Given the description of an element on the screen output the (x, y) to click on. 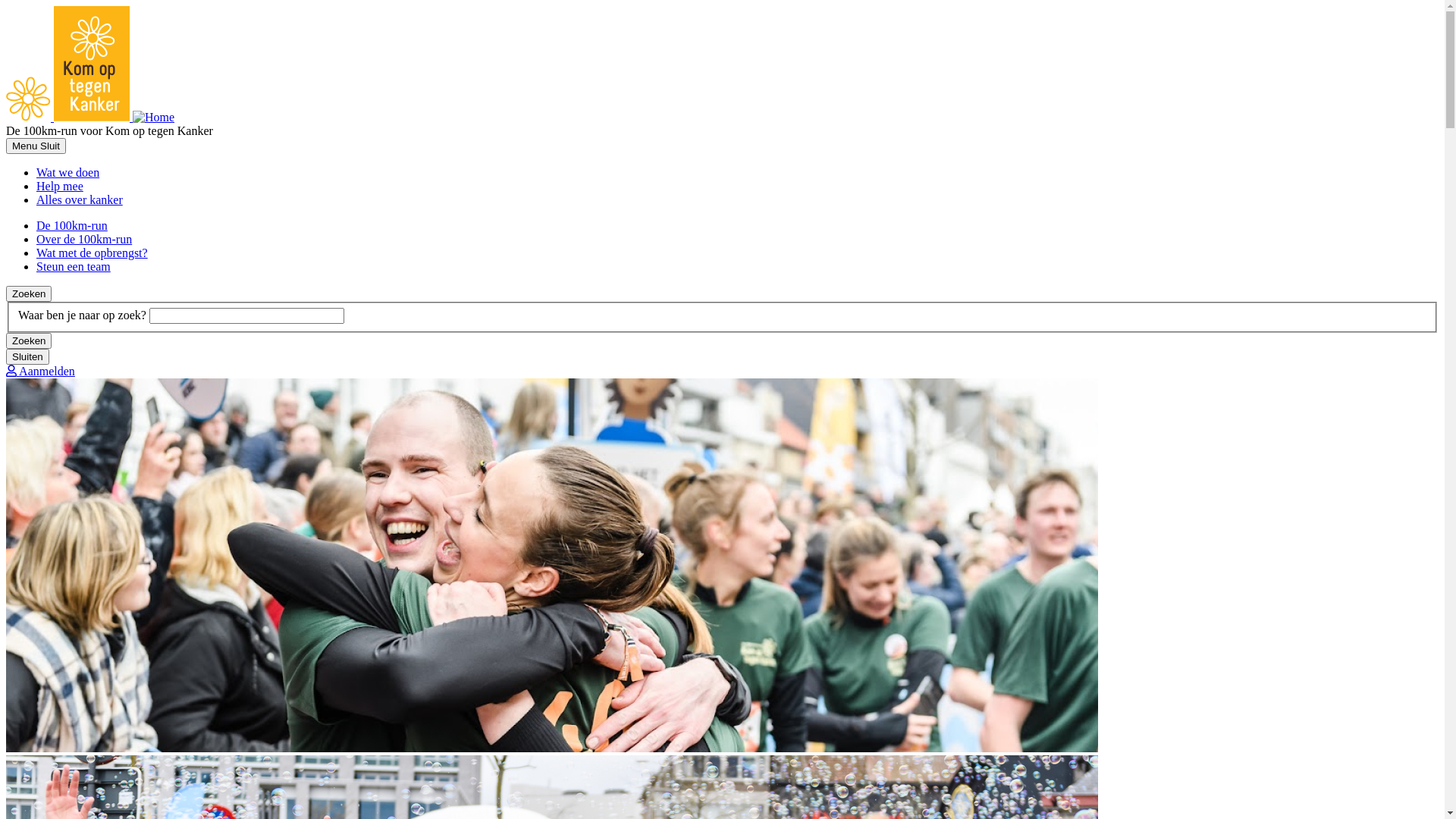
Alles over kanker Element type: text (79, 199)
Overslaan en naar de inhoud gaan Element type: text (6, 6)
Aanmelden Element type: text (40, 370)
Wat we doen Element type: text (67, 172)
De 100km-run Element type: text (71, 225)
Over de 100km-run Element type: text (83, 238)
Zoeken Element type: text (28, 293)
Zoeken Element type: text (28, 340)
Help mee Element type: text (59, 185)
Sluiten Element type: text (27, 356)
Wat met de opbrengst? Element type: text (91, 252)
Steun een team Element type: text (73, 266)
Menu Sluit Element type: text (35, 145)
Home Element type: hover (90, 116)
